Given the description of an element on the screen output the (x, y) to click on. 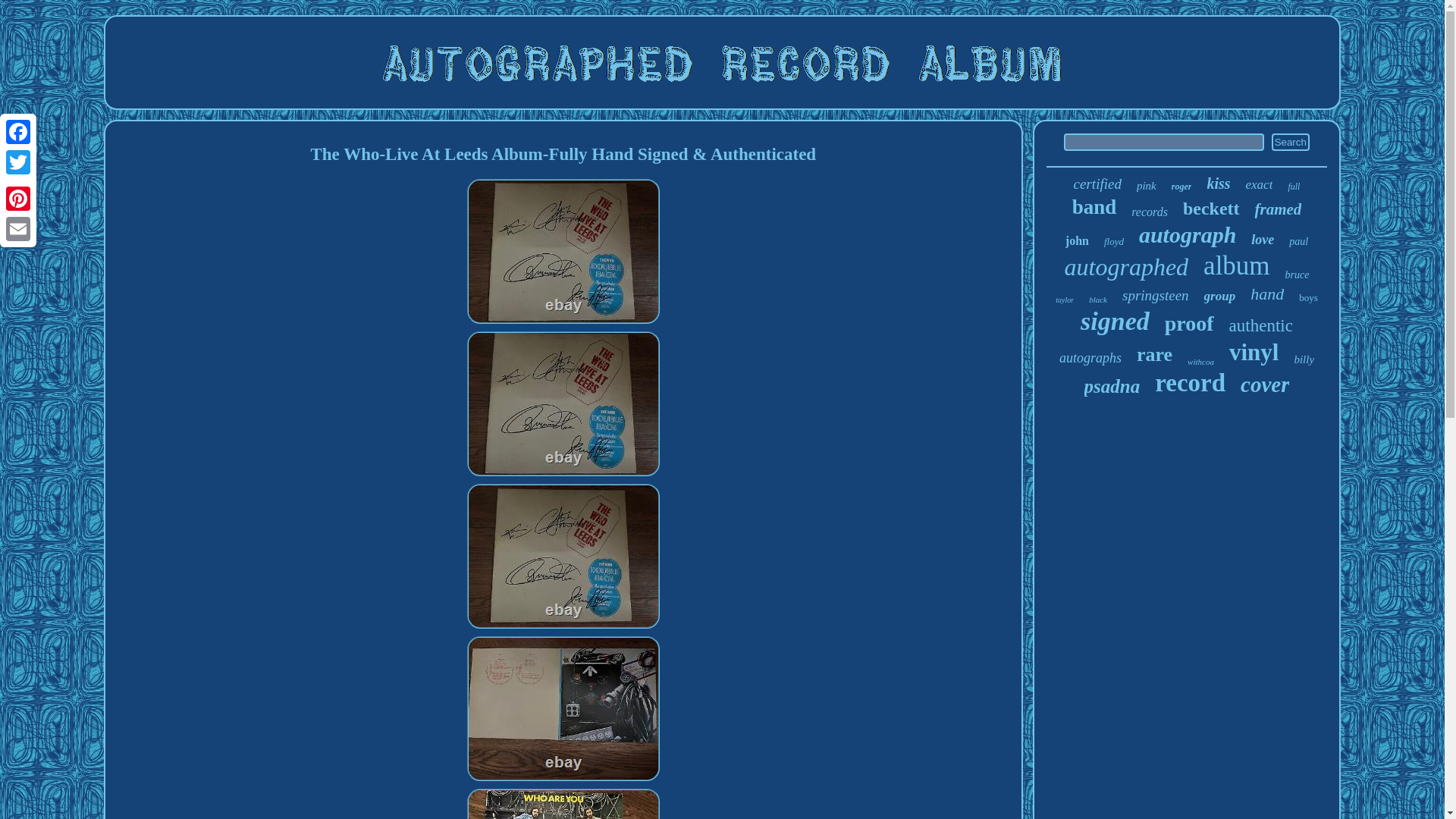
Search (1289, 141)
records (1149, 212)
Search (1289, 141)
john (1077, 241)
paul (1297, 241)
band (1093, 207)
beckett (1211, 209)
album (1236, 265)
bruce (1296, 275)
kiss (1218, 183)
autograph (1187, 234)
love (1262, 239)
Pinterest (17, 198)
autographed (1126, 267)
certified (1097, 184)
